Given the description of an element on the screen output the (x, y) to click on. 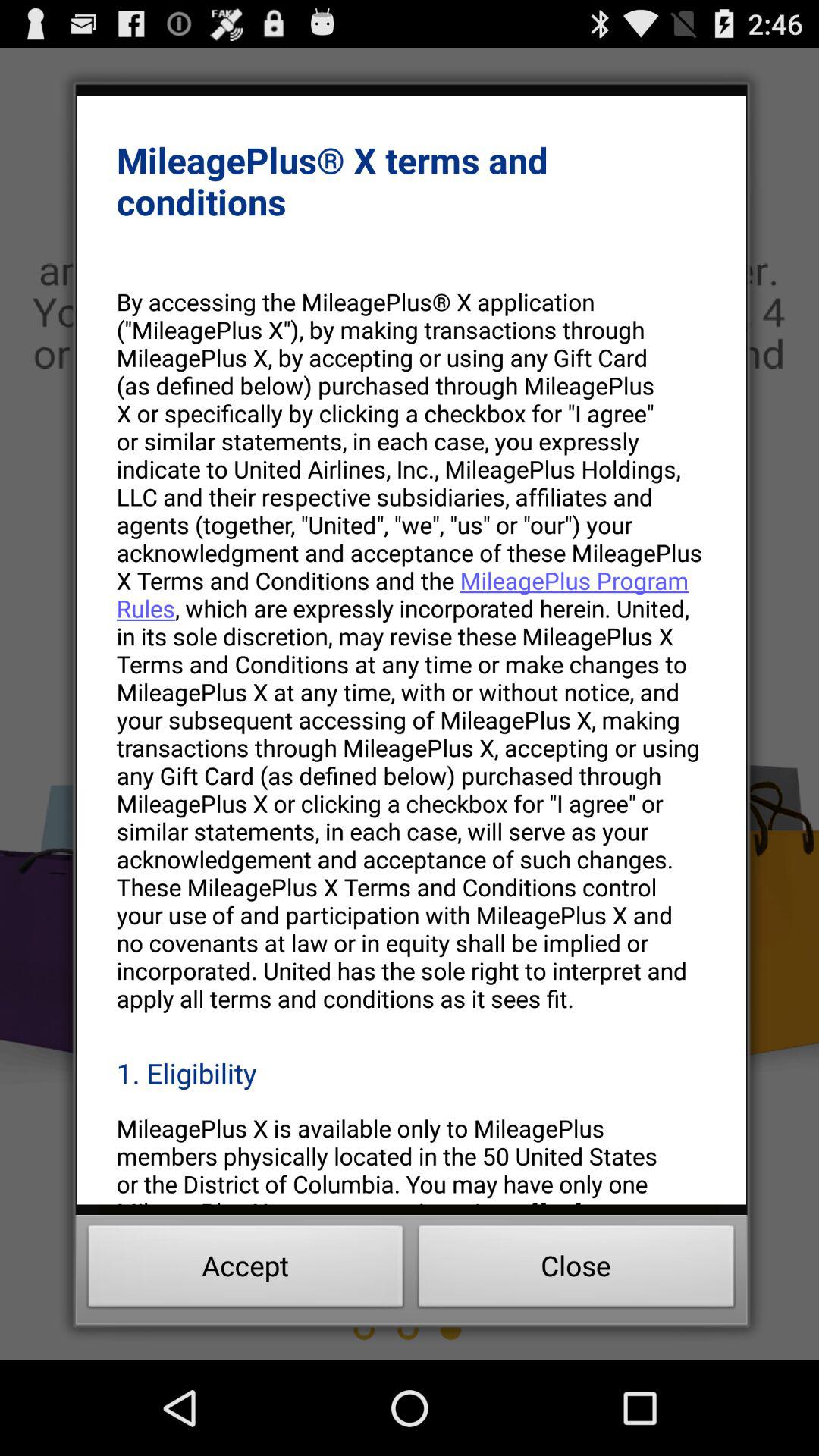
turn on item to the left of close (245, 1270)
